Given the description of an element on the screen output the (x, y) to click on. 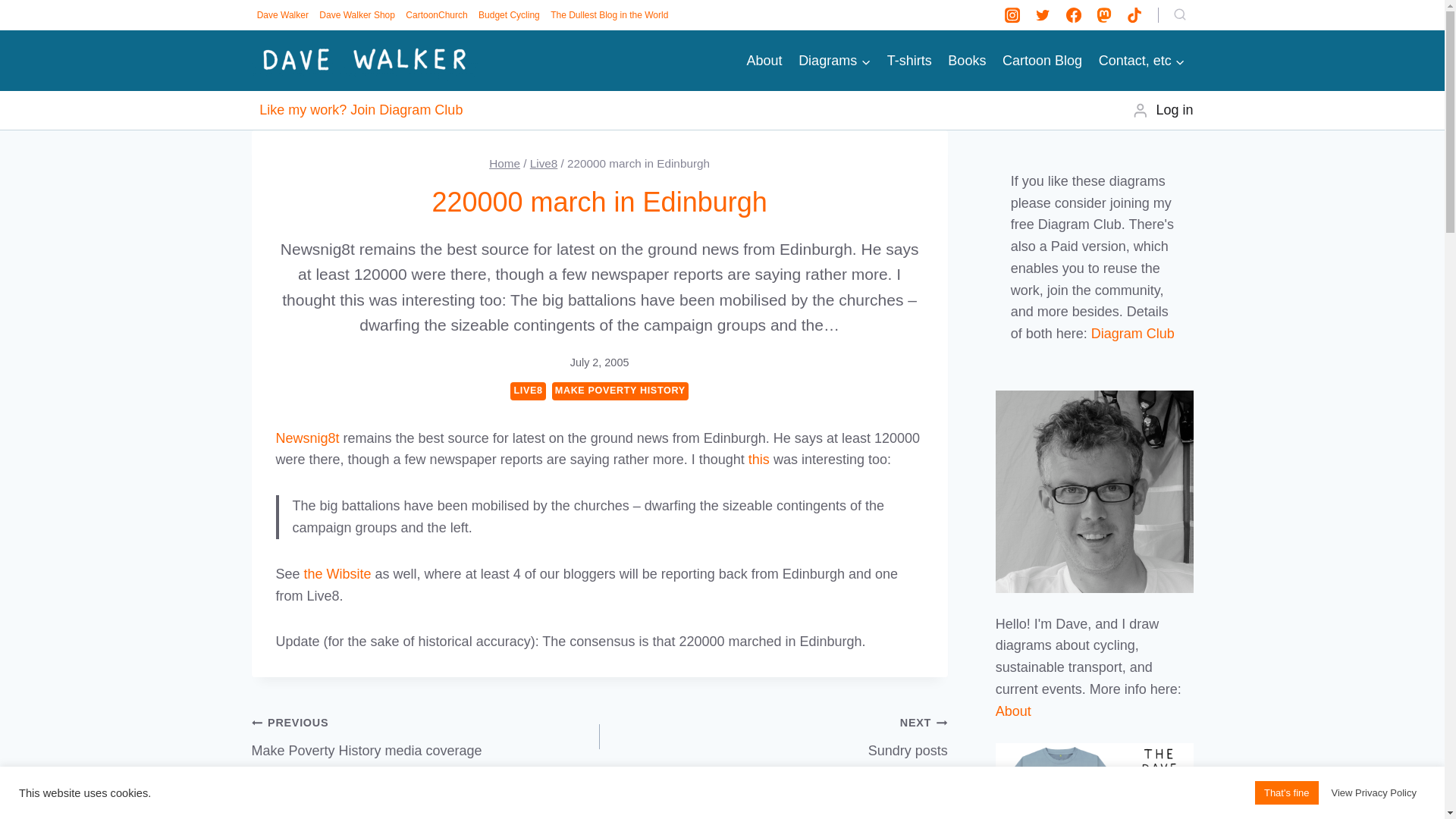
T-shirts (909, 60)
CartoonChurch (436, 14)
Cartoon Blog (1042, 60)
Books (967, 60)
The Dullest Blog in the World (609, 14)
Budget Cycling (508, 14)
Dave Walker Shop (357, 14)
Contact, etc (1141, 60)
Dave Walker (282, 14)
About (764, 60)
